Given the description of an element on the screen output the (x, y) to click on. 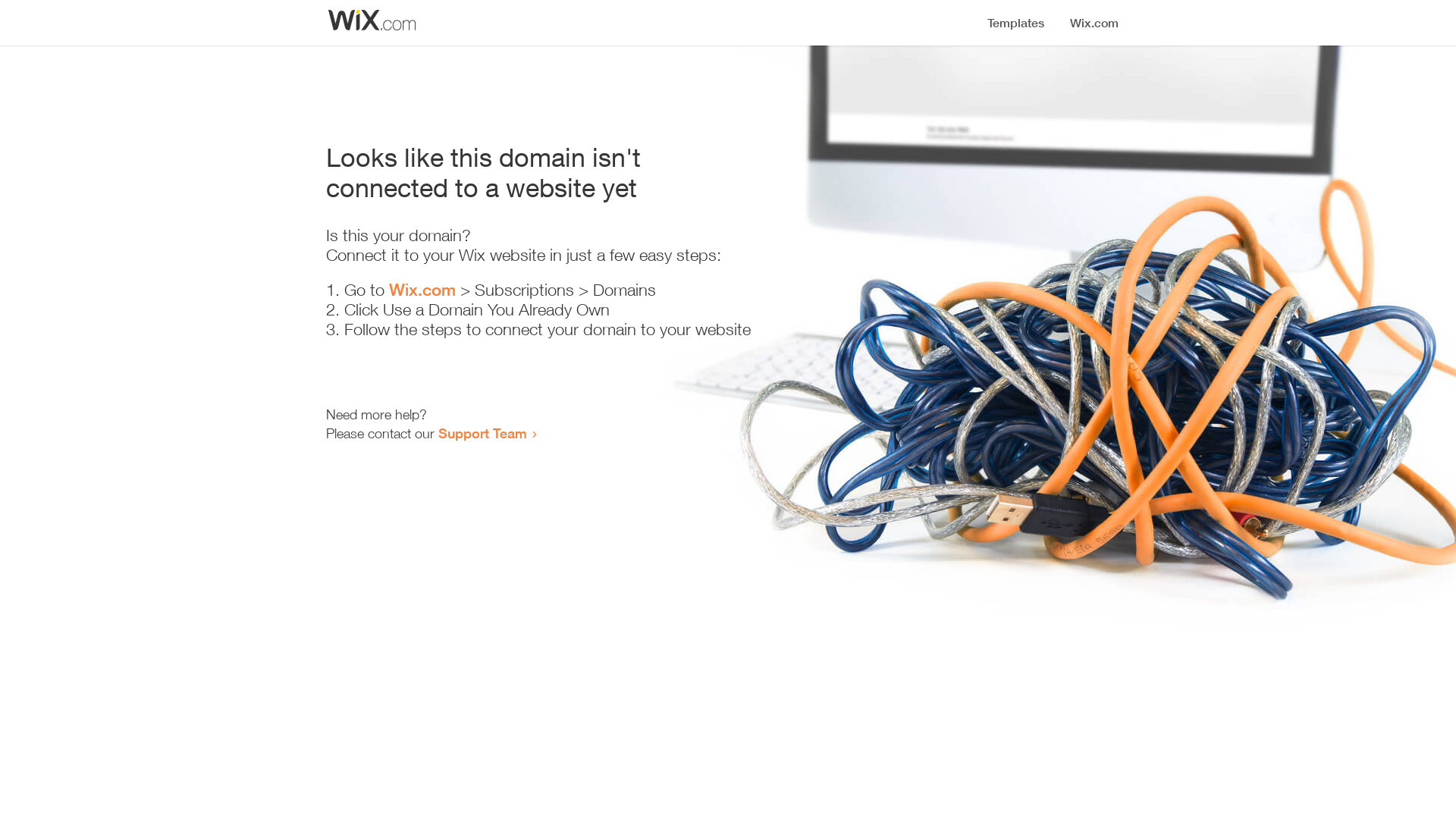
Wix.com Element type: text (422, 289)
Support Team Element type: text (482, 432)
